Given the description of an element on the screen output the (x, y) to click on. 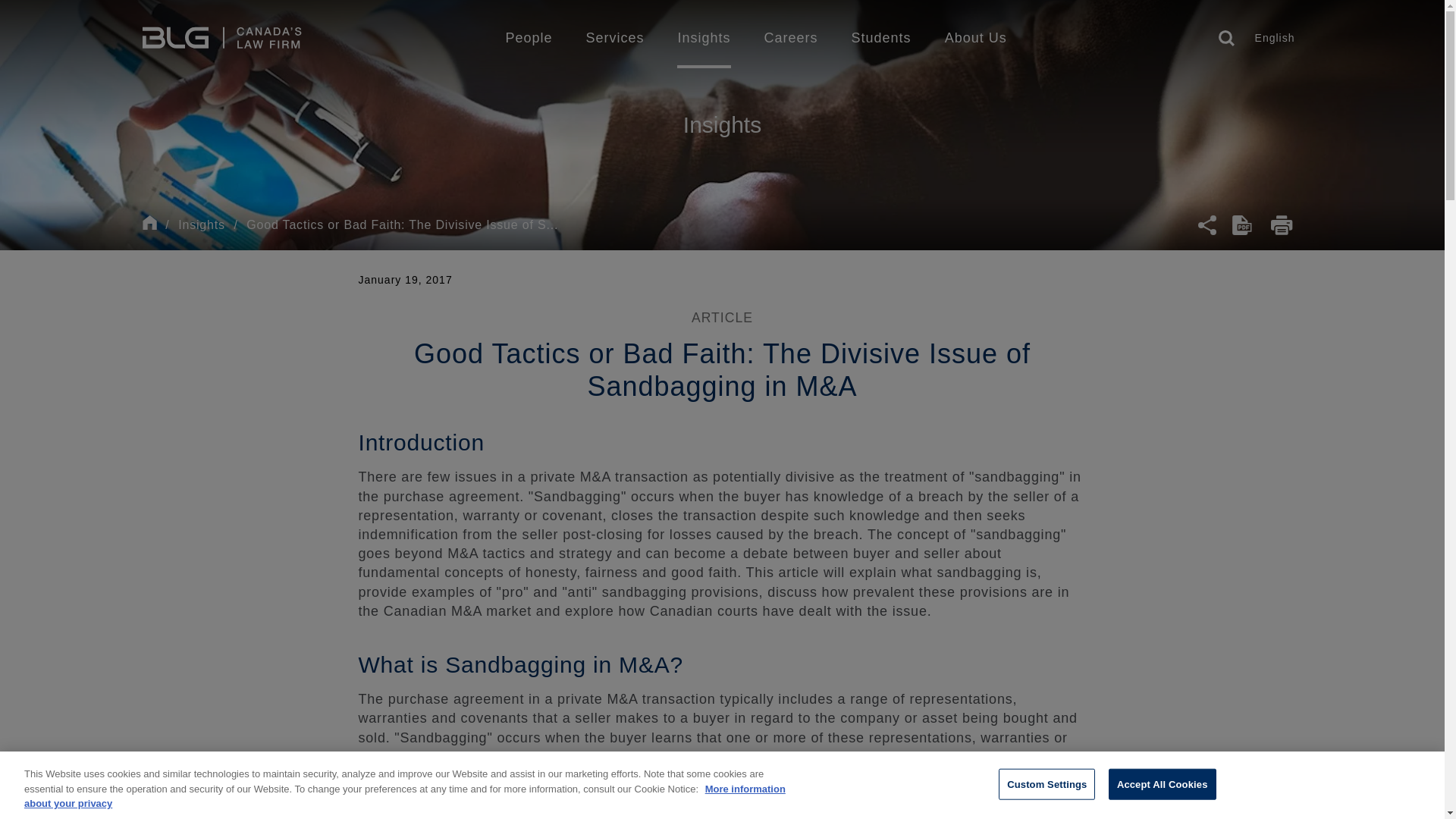
People (528, 37)
Services (614, 37)
Home (221, 37)
